Given the description of an element on the screen output the (x, y) to click on. 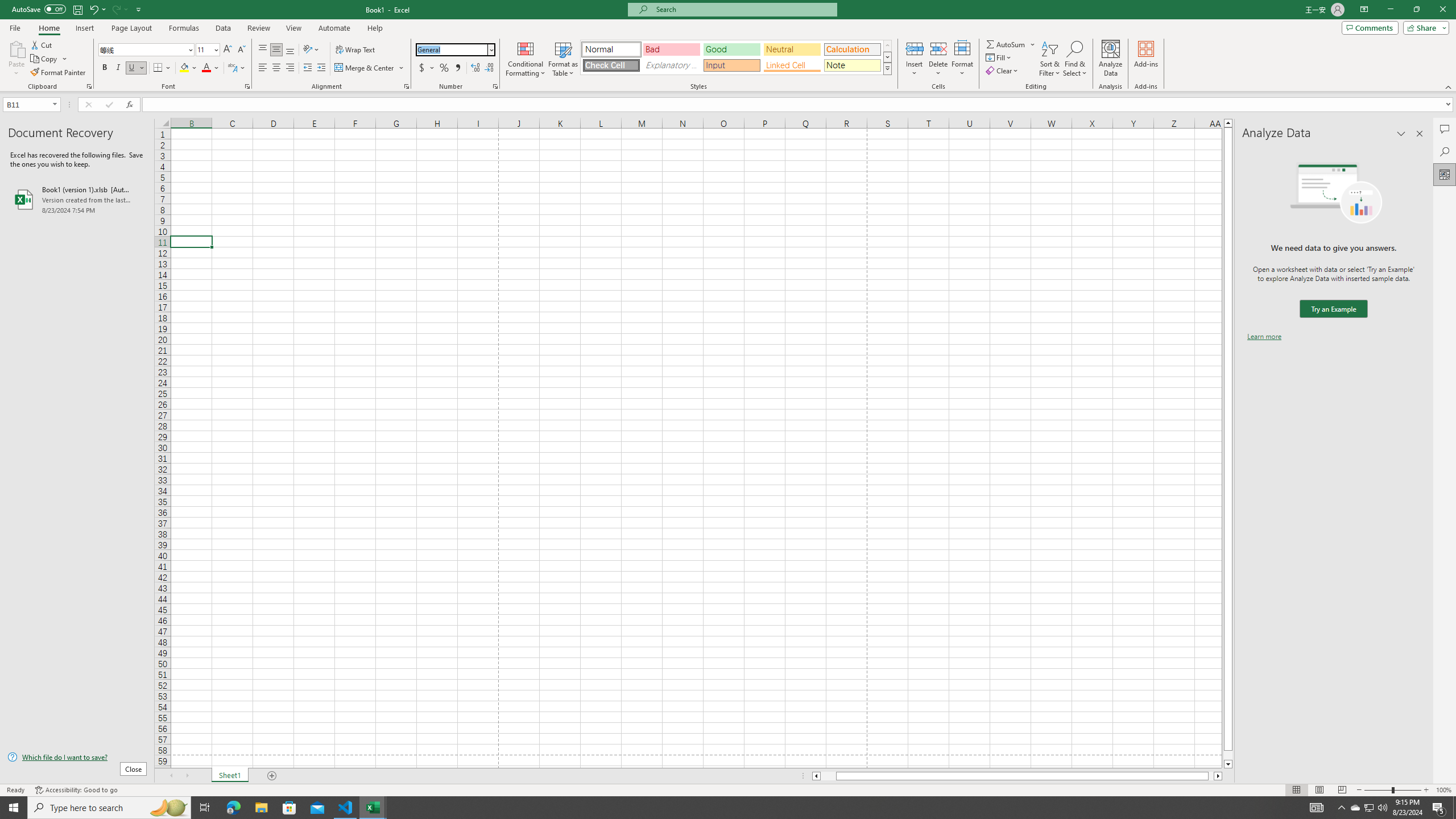
Delete (938, 58)
Decrease Decimal (489, 67)
Format as Table (563, 58)
Decrease Indent (307, 67)
Paste (16, 58)
